Given the description of an element on the screen output the (x, y) to click on. 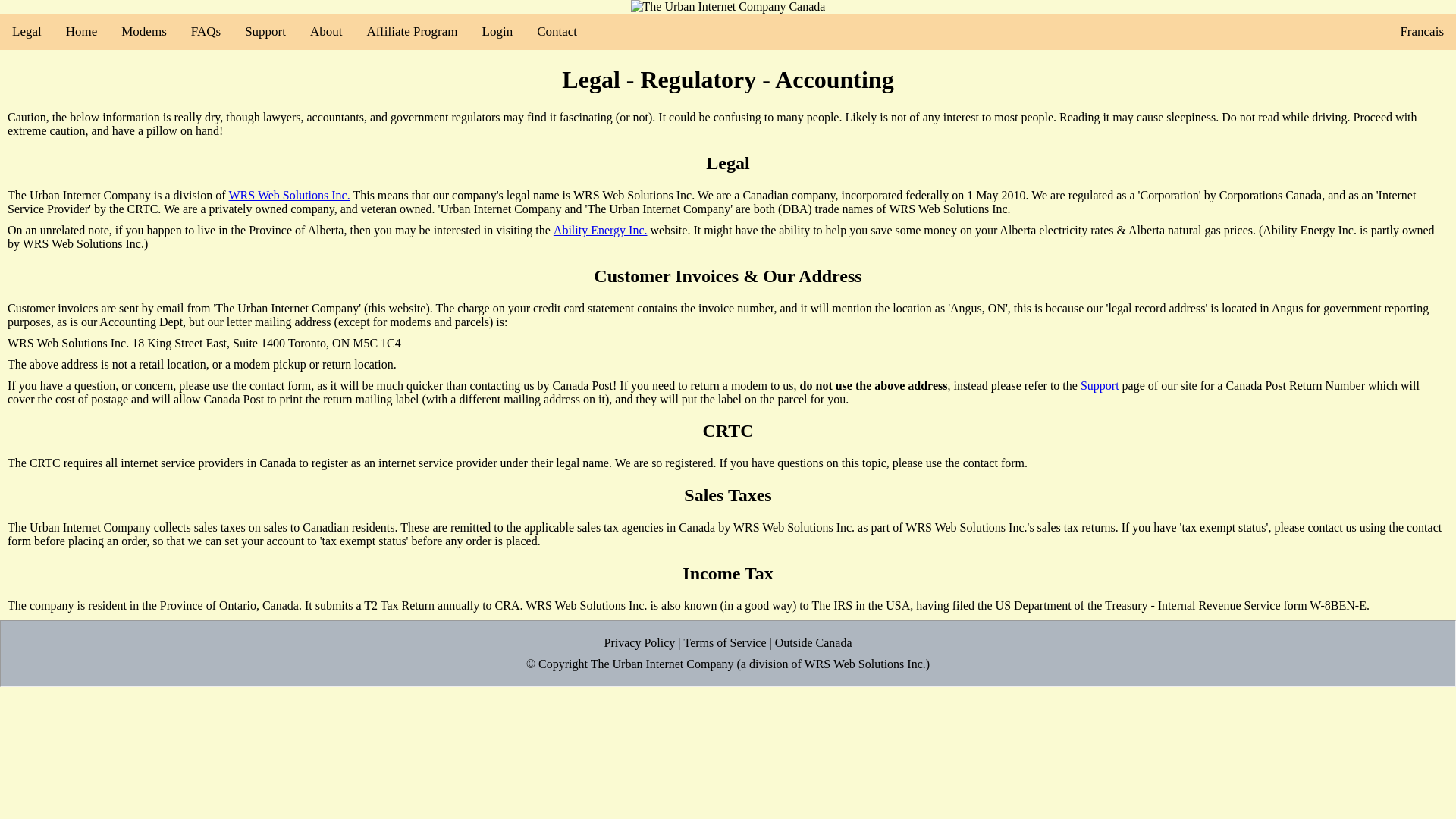
Support (1099, 386)
Home (81, 31)
Support (265, 31)
Contact (556, 31)
Ability Energy Inc. (600, 230)
Legal (26, 31)
FAQs (205, 31)
Login (497, 31)
WRS Web Solutions Inc. (289, 195)
Affiliate Program (410, 31)
